Given the description of an element on the screen output the (x, y) to click on. 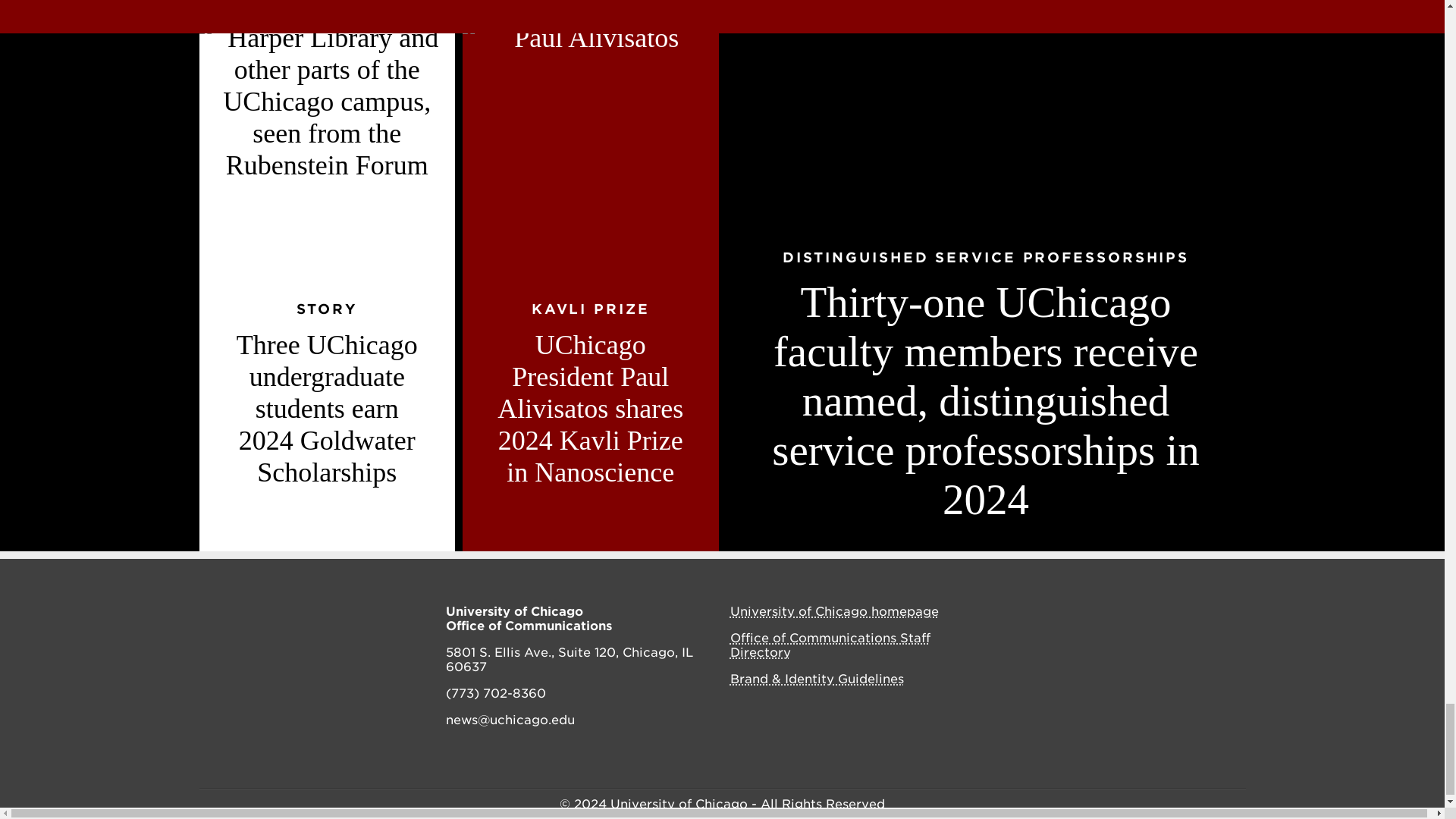
Connect with UChicago on Twitter (1146, 613)
Connect with UChicago on Youtube (1214, 613)
Connect with UChicago on Instagram (1112, 613)
Connect with UChicago on Linkedin (1181, 613)
Connect with UChicago on Facebook (1081, 613)
